Given the description of an element on the screen output the (x, y) to click on. 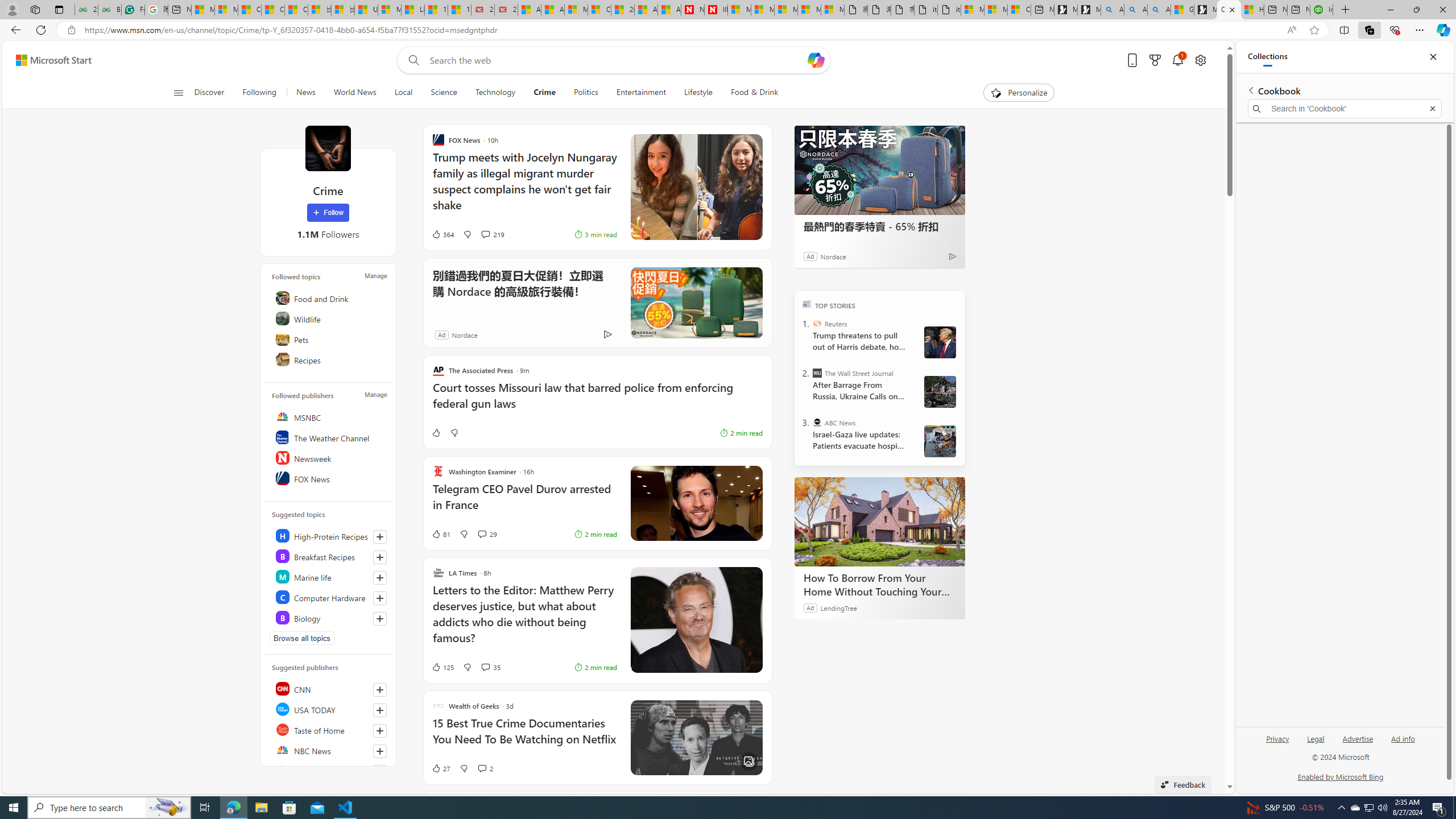
FOX News (328, 478)
itconcepthk.com/projector_solutions.mp4 (949, 9)
Exit search (1432, 108)
Alabama high school quarterback dies - Search Videos (1158, 9)
Food and Drink (328, 298)
